Given the description of an element on the screen output the (x, y) to click on. 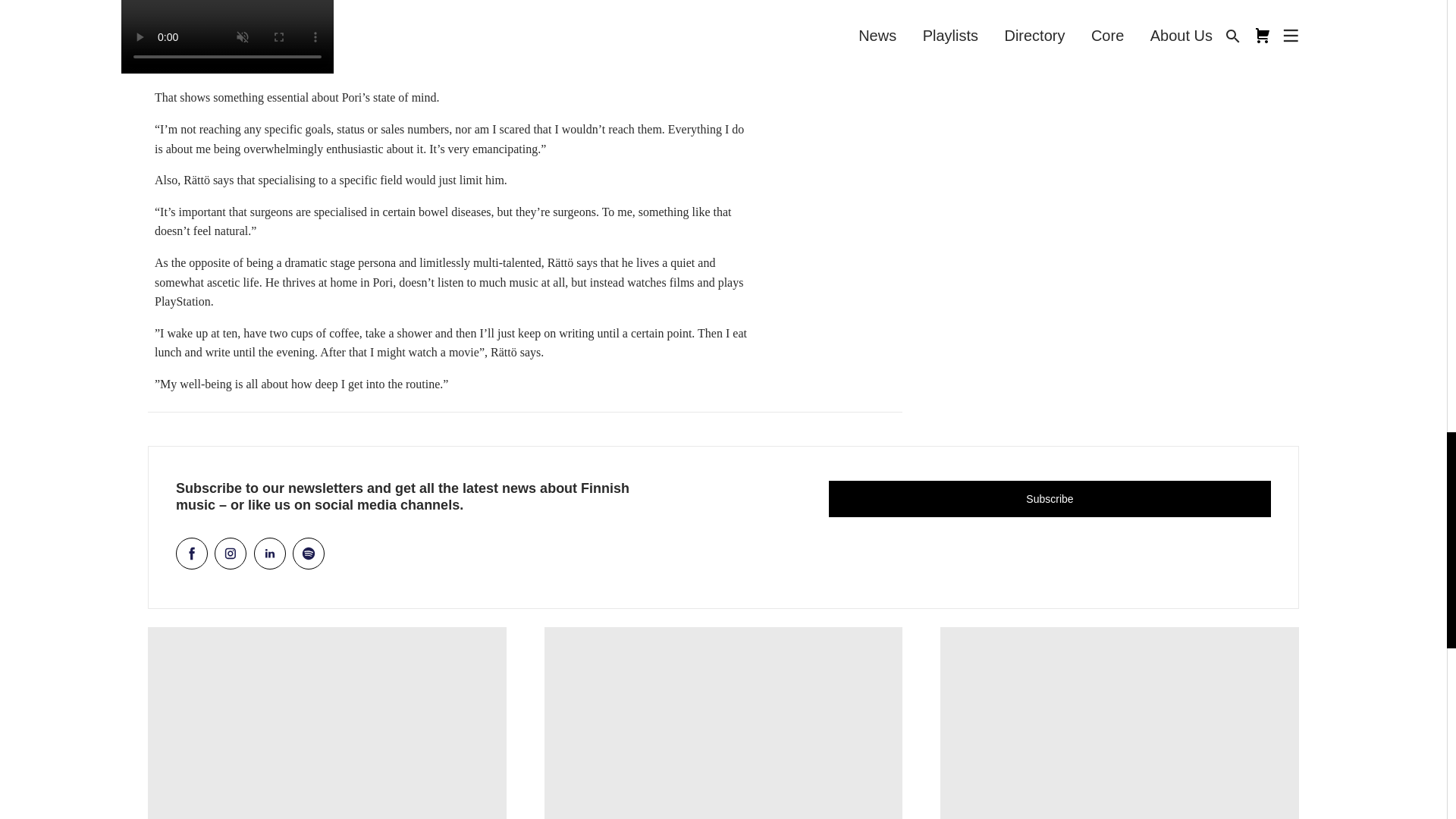
Subscribe (1049, 498)
